Given the description of an element on the screen output the (x, y) to click on. 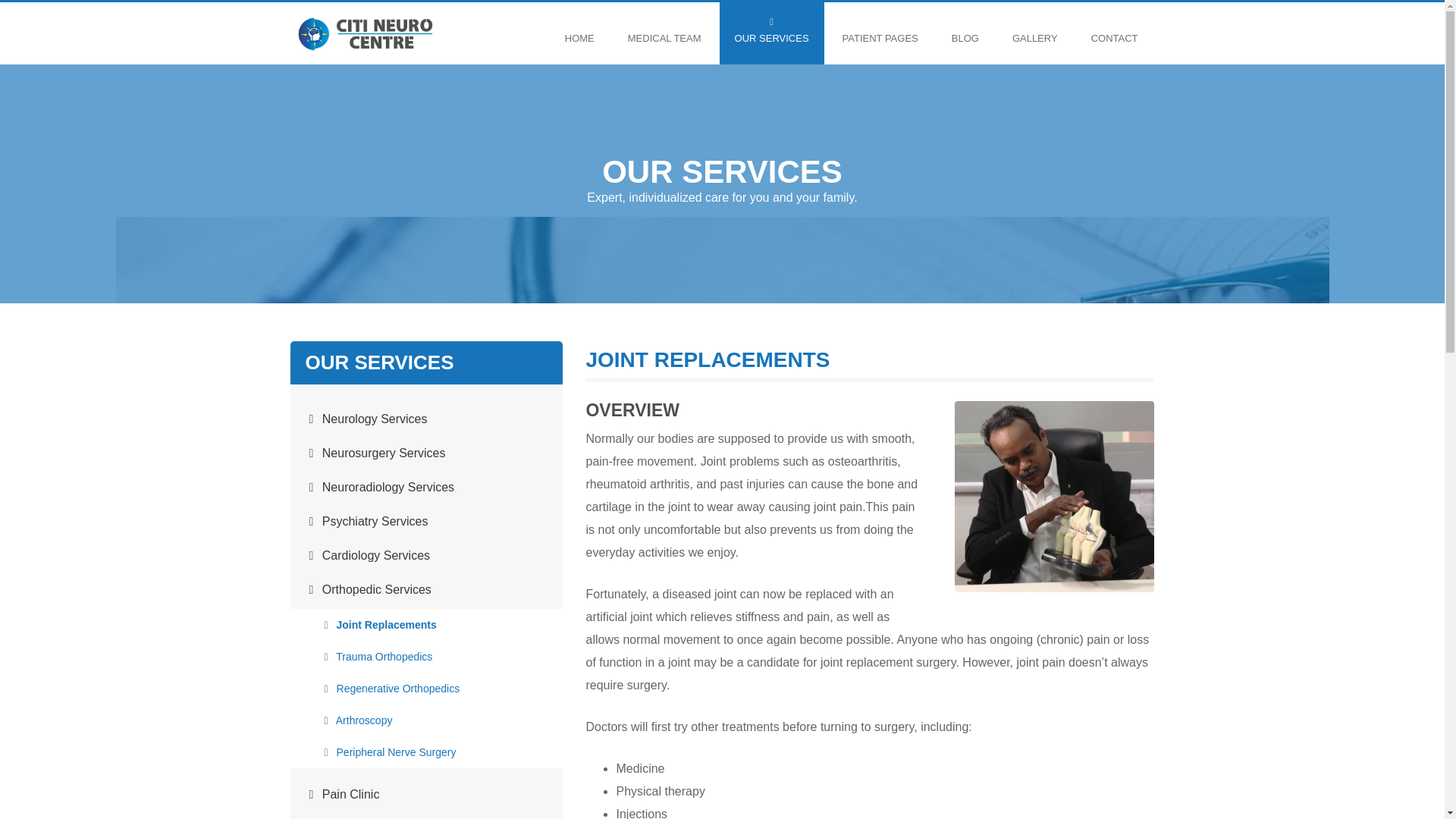
HOME (580, 33)
OUR SERVICES (771, 33)
MEDICAL TEAM (664, 33)
